Given the description of an element on the screen output the (x, y) to click on. 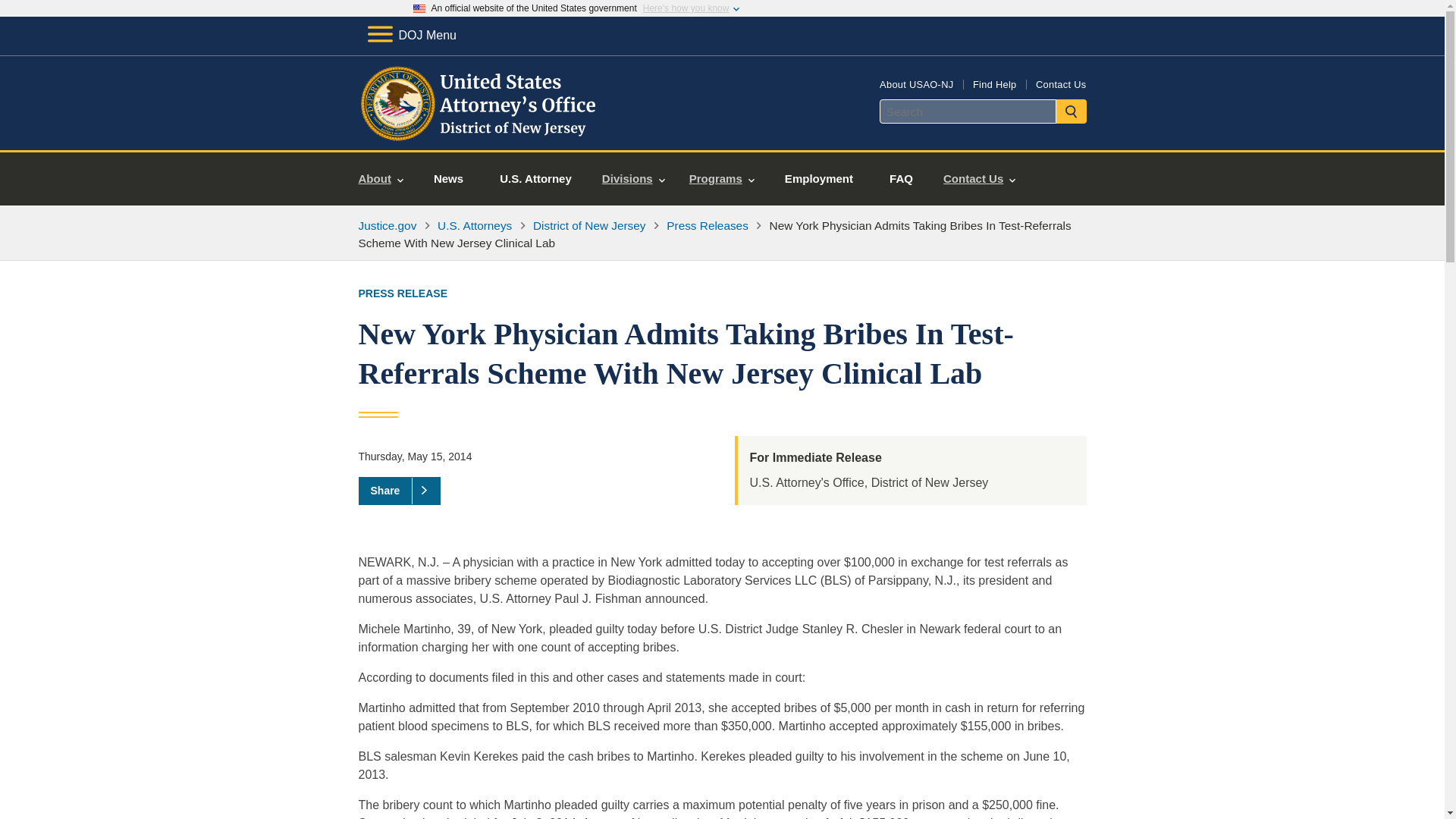
Contact Us (979, 179)
News (447, 179)
Contact Us (1060, 84)
District of New Jersey (589, 225)
Home (481, 132)
About USAO-NJ (916, 84)
Employment (818, 179)
FAQ (900, 179)
U.S. Attorney (535, 179)
Here's how you know (686, 8)
